Given the description of an element on the screen output the (x, y) to click on. 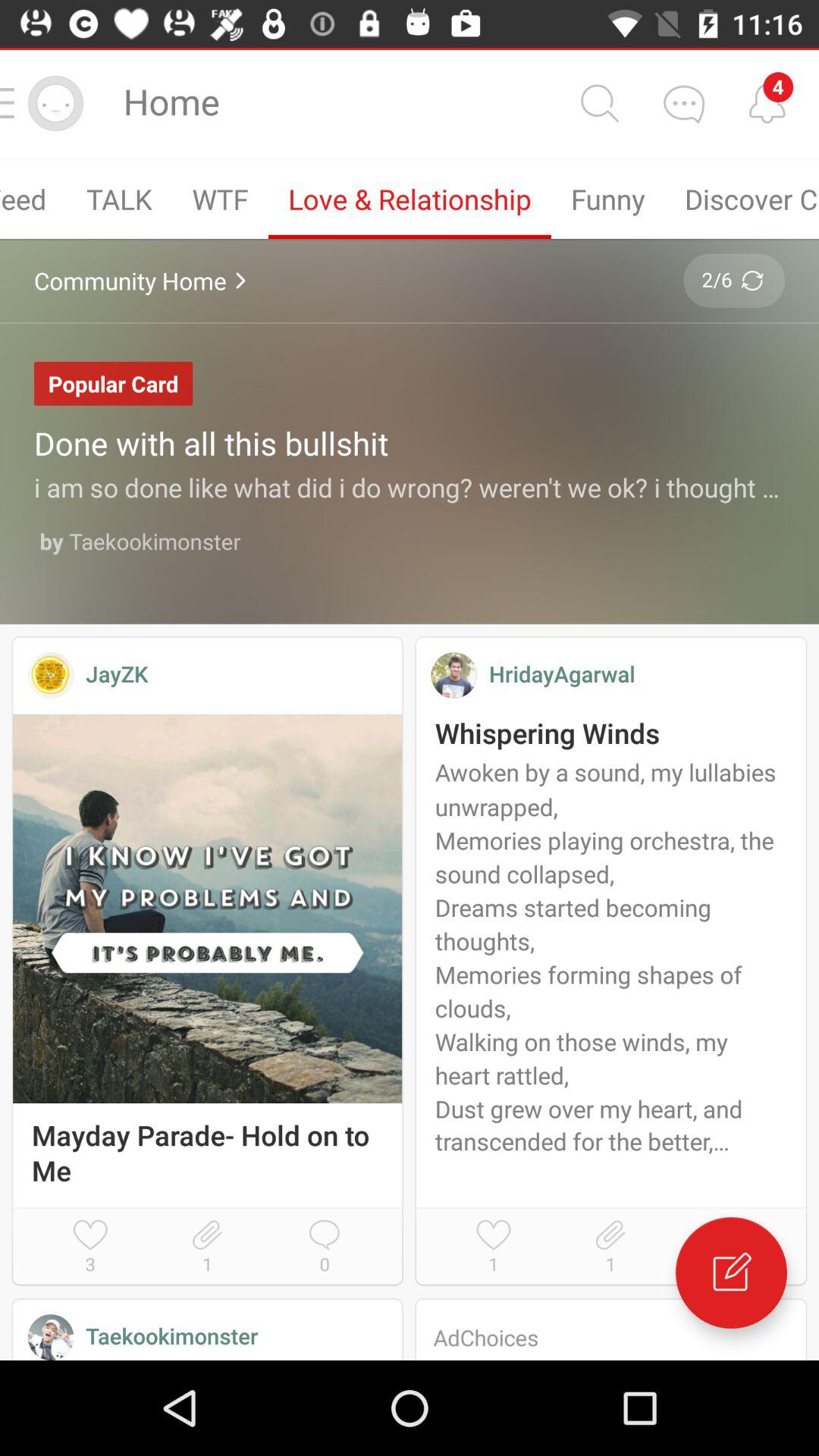
click notification (766, 103)
